Given the description of an element on the screen output the (x, y) to click on. 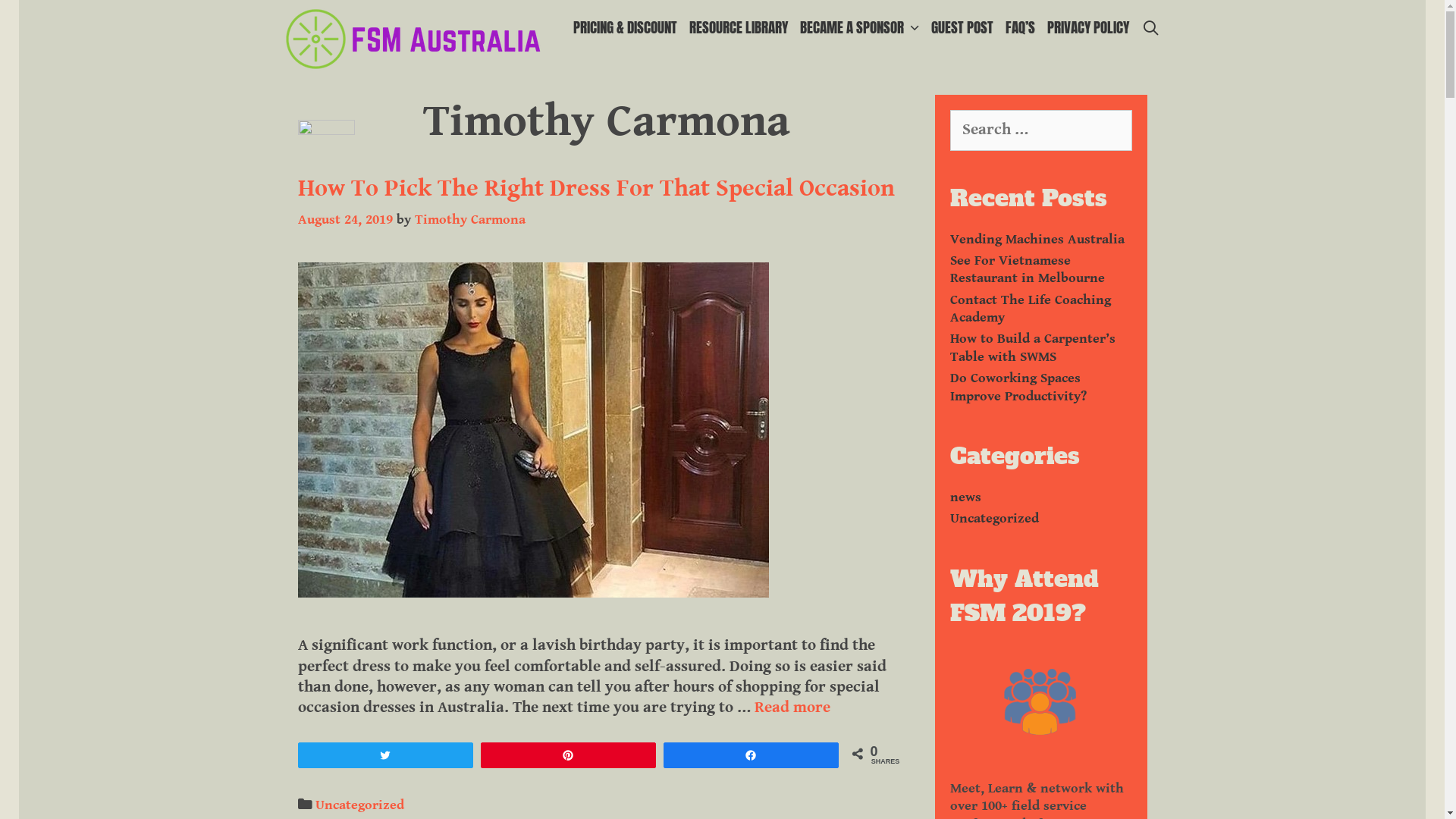
Search Element type: text (299, 23)
Timothy Carmona Element type: text (469, 219)
Contact The Life Coaching Academy Element type: text (1029, 308)
How To Pick The Right Dress For That Special Occasion Element type: text (595, 188)
GUEST POST Element type: text (962, 26)
PRICING & DISCOUNT Element type: text (625, 26)
Skip to content Element type: text (18, 0)
See For Vietnamese Restaurant in Melbourne Element type: text (1026, 268)
PRIVACY POLICY Element type: text (1088, 26)
FSM Australia Element type: hover (411, 38)
RESOURCE LIBRARY Element type: text (738, 26)
Vending Machines Australia Element type: text (1036, 238)
BECAME A SPONSOR Element type: text (859, 26)
news Element type: text (964, 497)
SEARCH Element type: text (1150, 26)
August 24, 2019 Element type: text (344, 219)
Do Coworking Spaces Improve Productivity? Element type: text (1017, 386)
FSM Australia Element type: hover (411, 39)
Uncategorized Element type: text (359, 804)
Uncategorized Element type: text (993, 518)
Search for: Element type: hover (1040, 129)
Search Element type: text (35, 18)
